Given the description of an element on the screen output the (x, y) to click on. 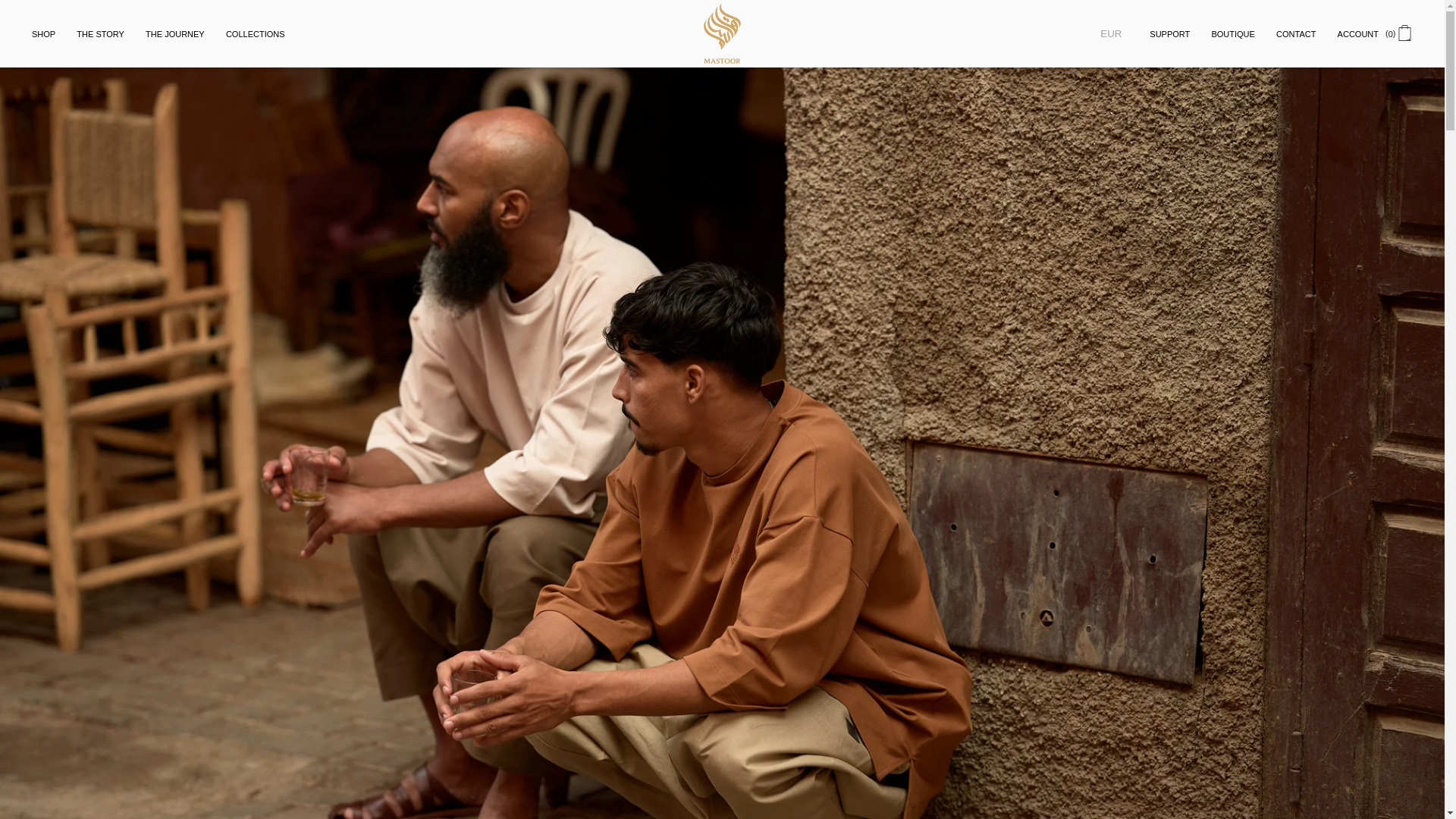
ACCOUNT (1357, 34)
SHOP (43, 34)
THE JOURNEY (175, 34)
BOUTIQUE (1232, 34)
SUPPORT (1169, 34)
Open cart (1404, 34)
COLLECTIONS (255, 34)
THE STORY (99, 34)
CONTACT (1295, 34)
